Given the description of an element on the screen output the (x, y) to click on. 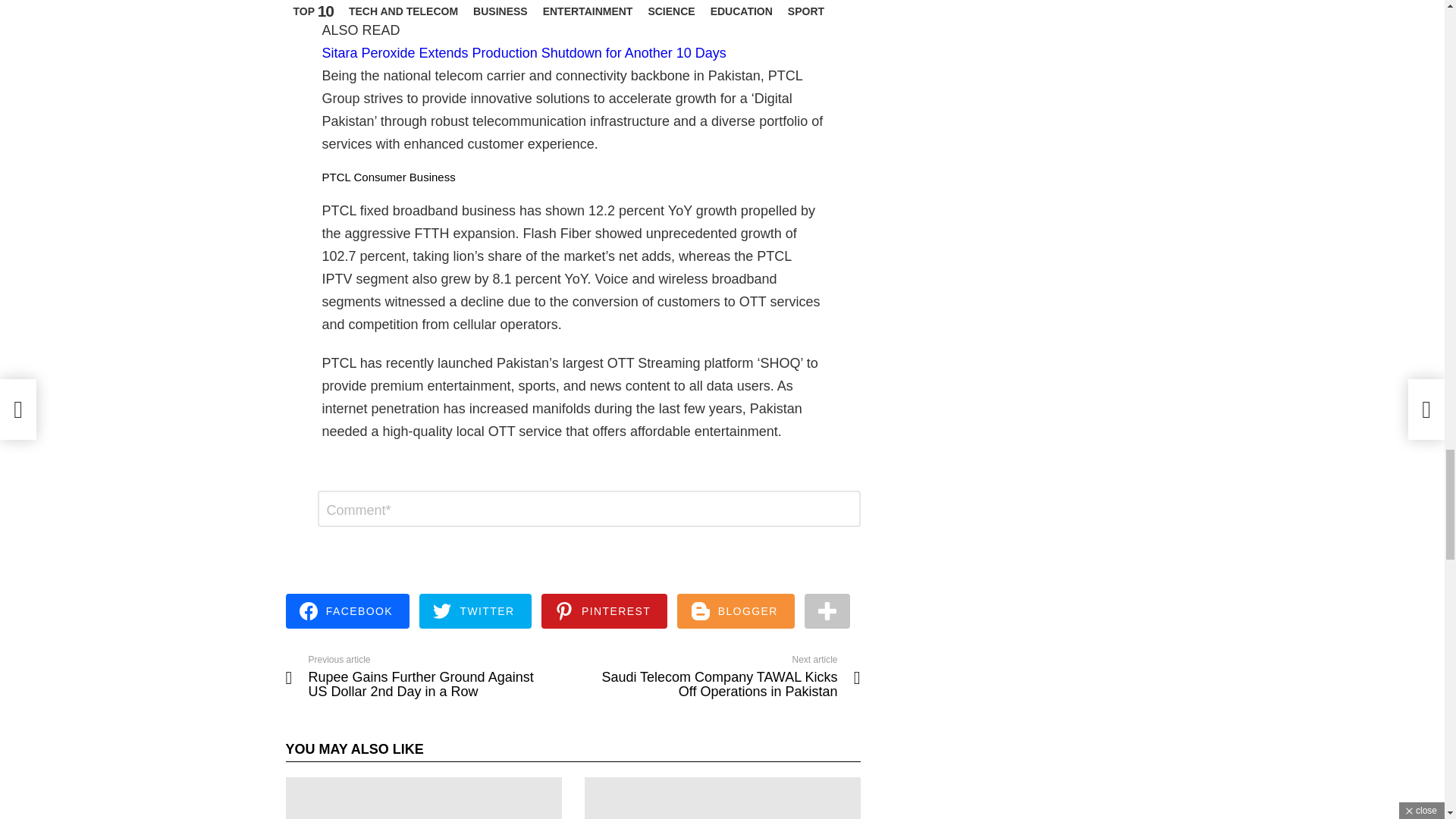
FACEBOOK (347, 610)
BLOGGER (735, 610)
PINTEREST (604, 610)
TWITTER (475, 610)
